Given the description of an element on the screen output the (x, y) to click on. 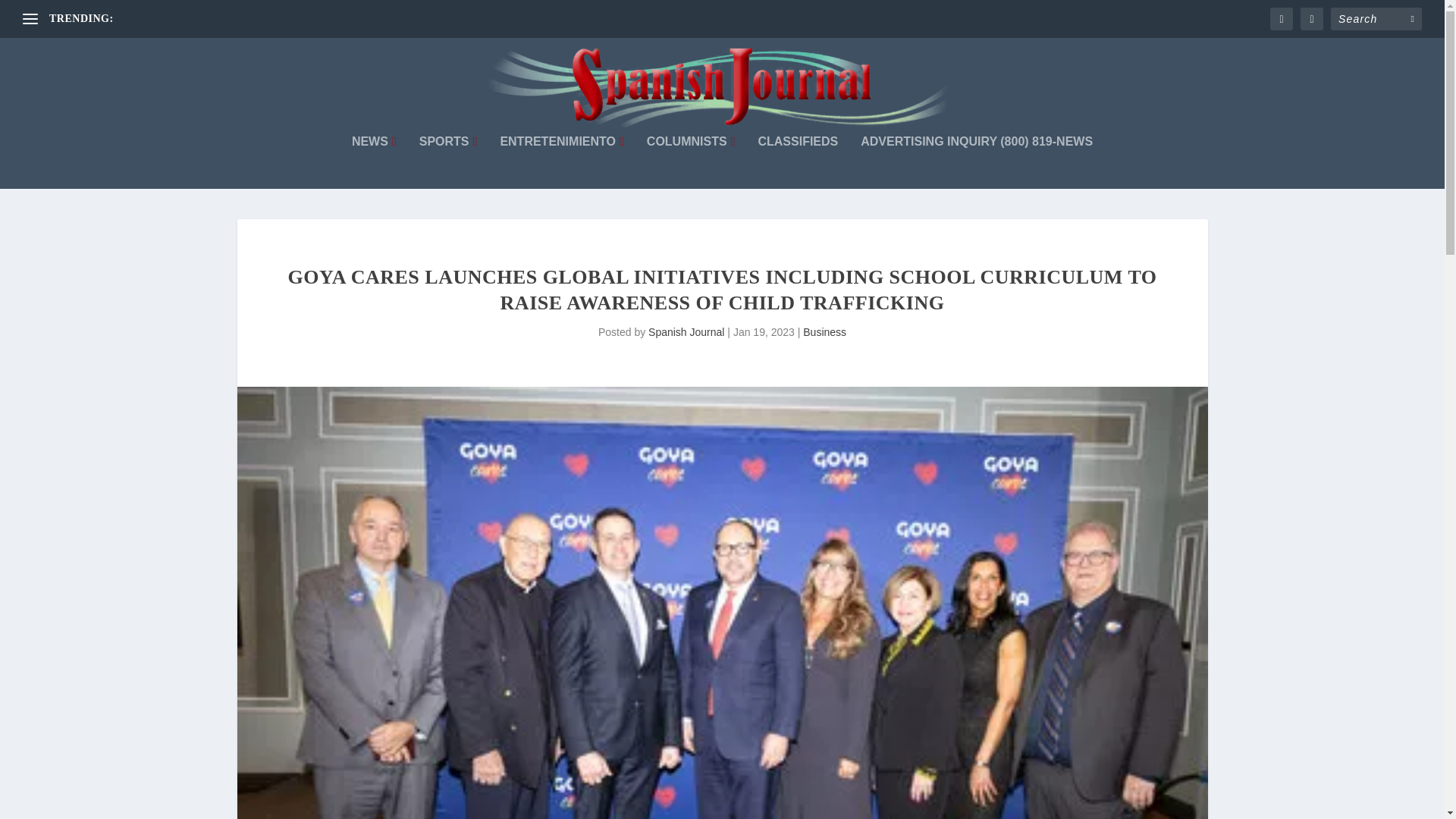
Search for: (1376, 18)
Posts by Spanish Journal (685, 331)
NEWS (374, 162)
